Given the description of an element on the screen output the (x, y) to click on. 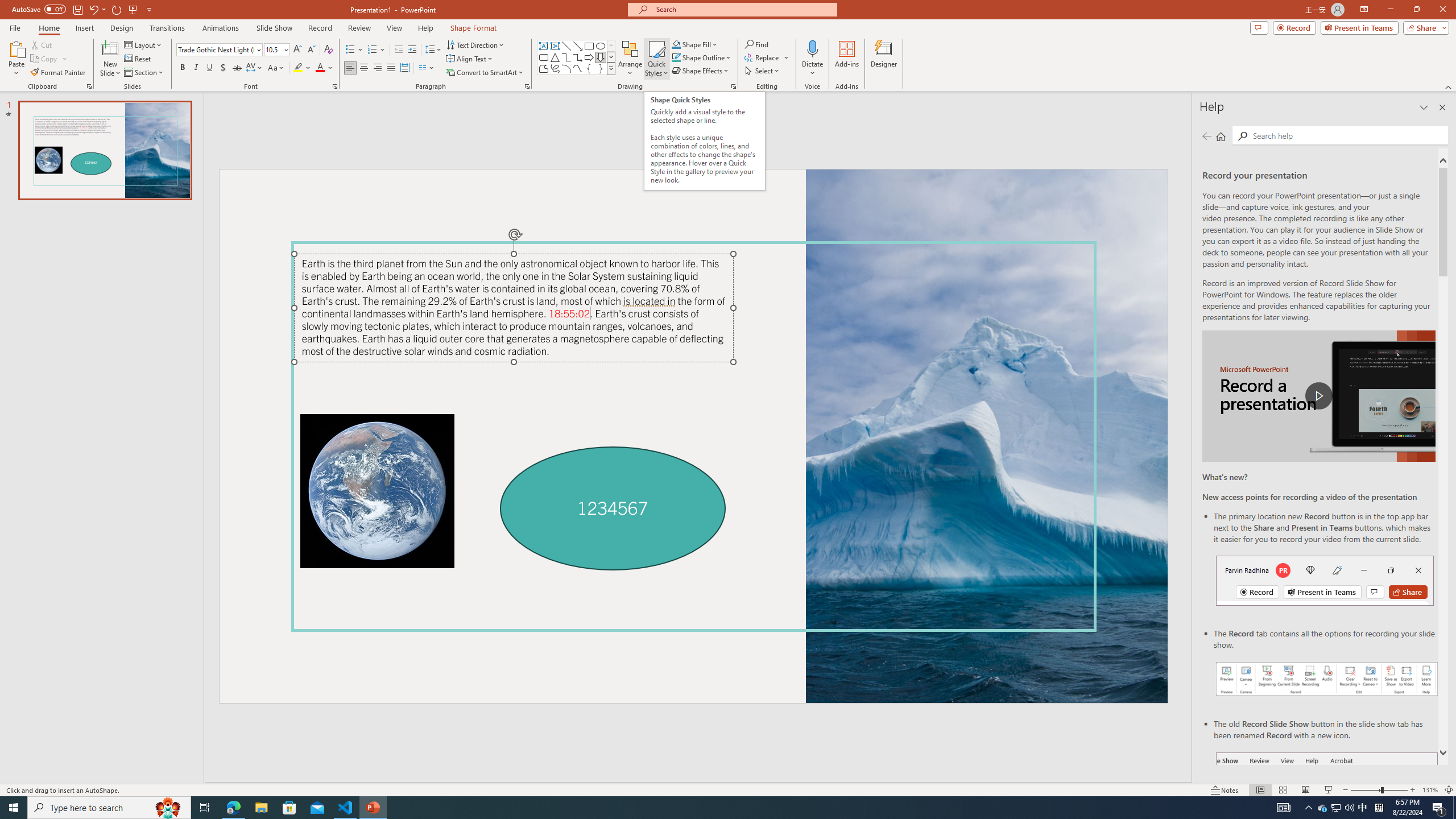
Paragraph... (526, 85)
Line Arrow (577, 45)
Cut (42, 44)
Layout (143, 44)
Text Highlight Color (302, 67)
Select (762, 69)
Text Highlight Color Yellow (297, 67)
Format Object... (733, 85)
